Given the description of an element on the screen output the (x, y) to click on. 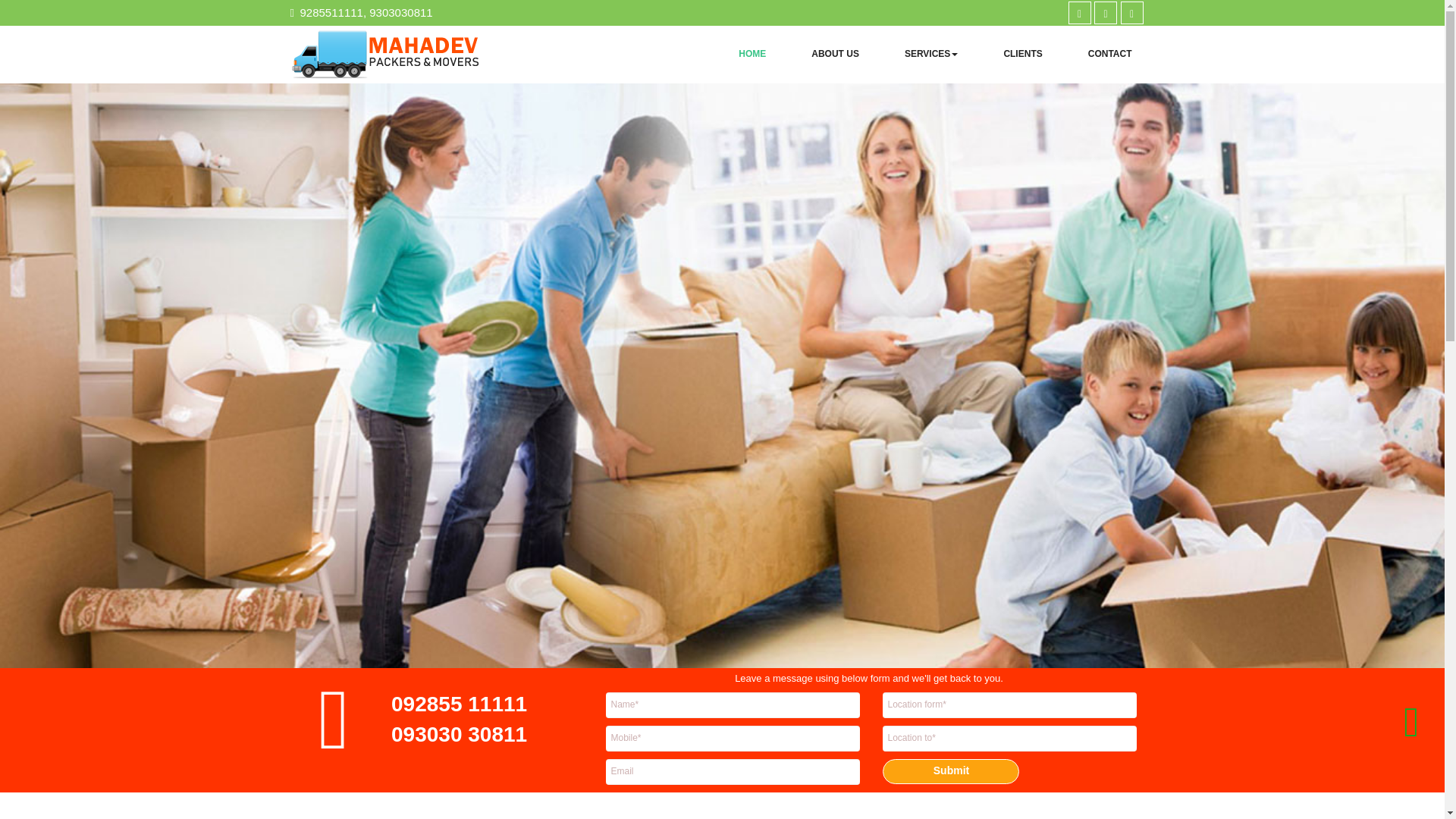
SERVICES (930, 53)
HOME (752, 53)
Submit (950, 771)
CONTACT (1109, 53)
ABOUT US (835, 53)
Submit (950, 771)
CLIENTS (1021, 53)
